Given the description of an element on the screen output the (x, y) to click on. 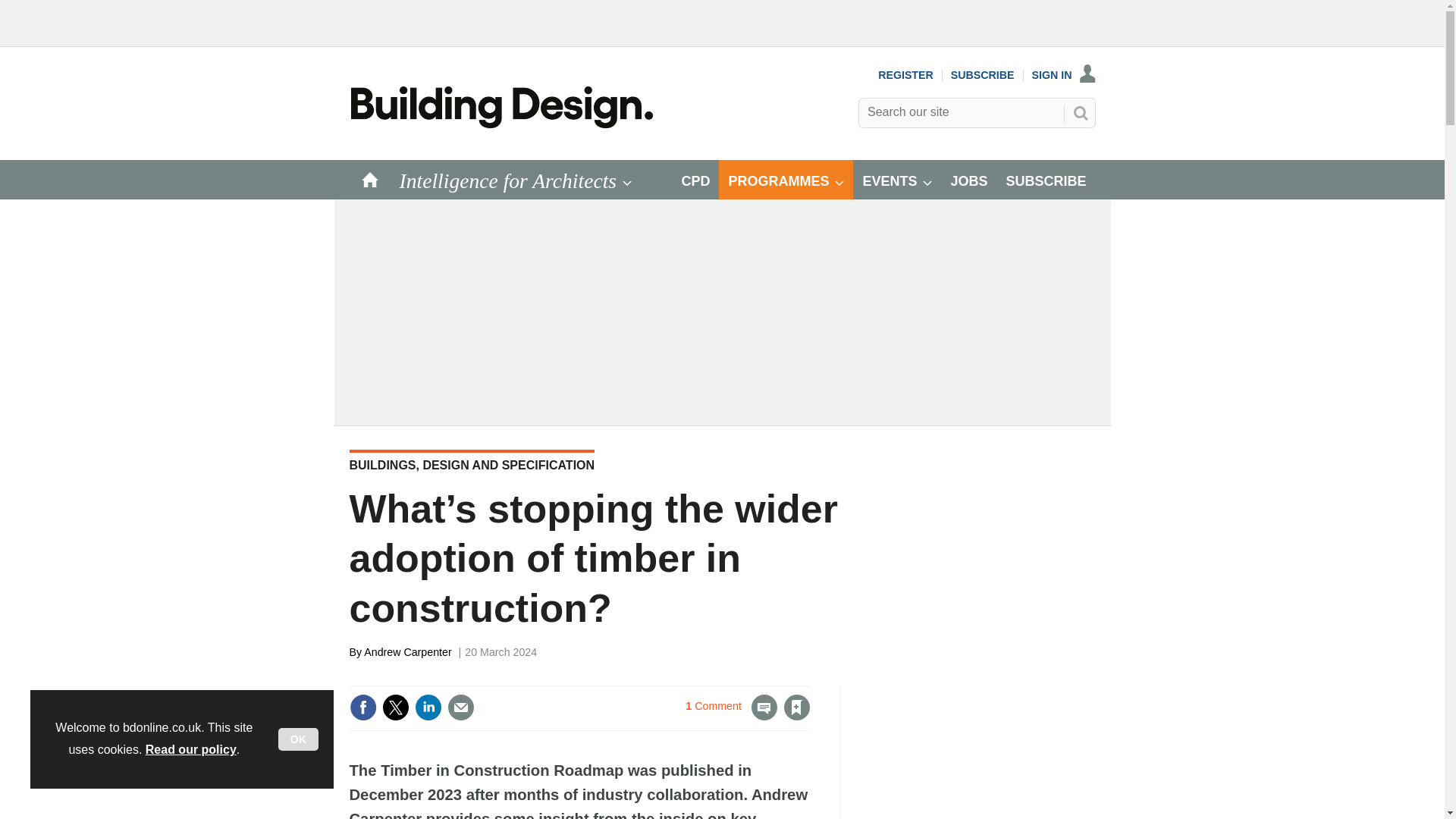
1 Comment (731, 716)
Share this on Twitter (395, 707)
REGISTER (905, 74)
Read our policy (190, 748)
OK (298, 739)
SIGN IN (1064, 74)
Share this on Facebook (362, 707)
3rd party ad content (980, 752)
SUBSCRIBE (982, 74)
Email this article (460, 707)
SEARCH (1079, 112)
Share this on Linked in (427, 707)
